Given the description of an element on the screen output the (x, y) to click on. 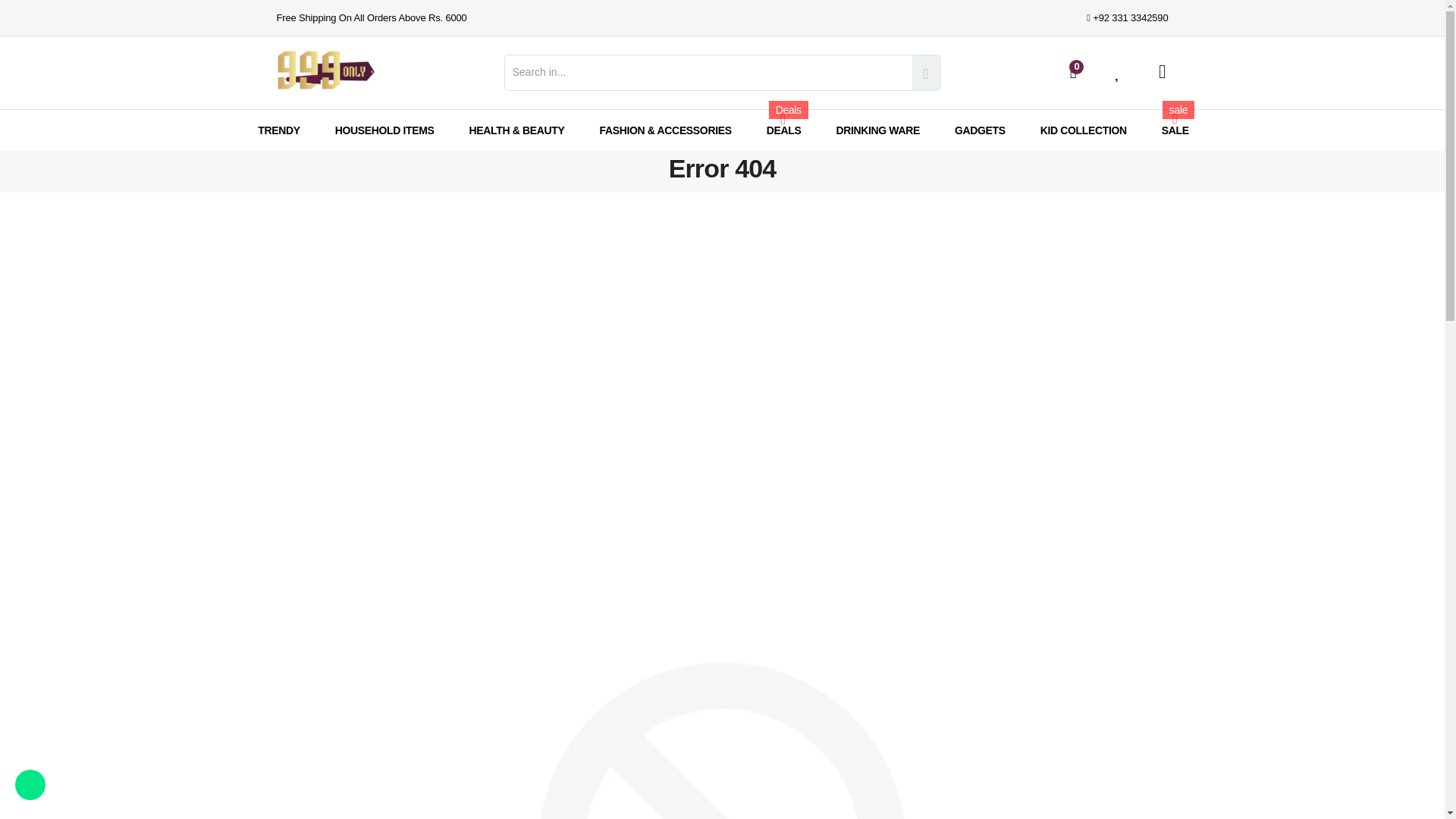
HOUSEHOLD ITEMS (384, 128)
TRENDY (278, 128)
DEALS (783, 128)
SALE (1175, 128)
GADGETS (980, 128)
0 (1066, 71)
KID COLLECTION (1083, 128)
DRINKING WARE (877, 128)
